Given the description of an element on the screen output the (x, y) to click on. 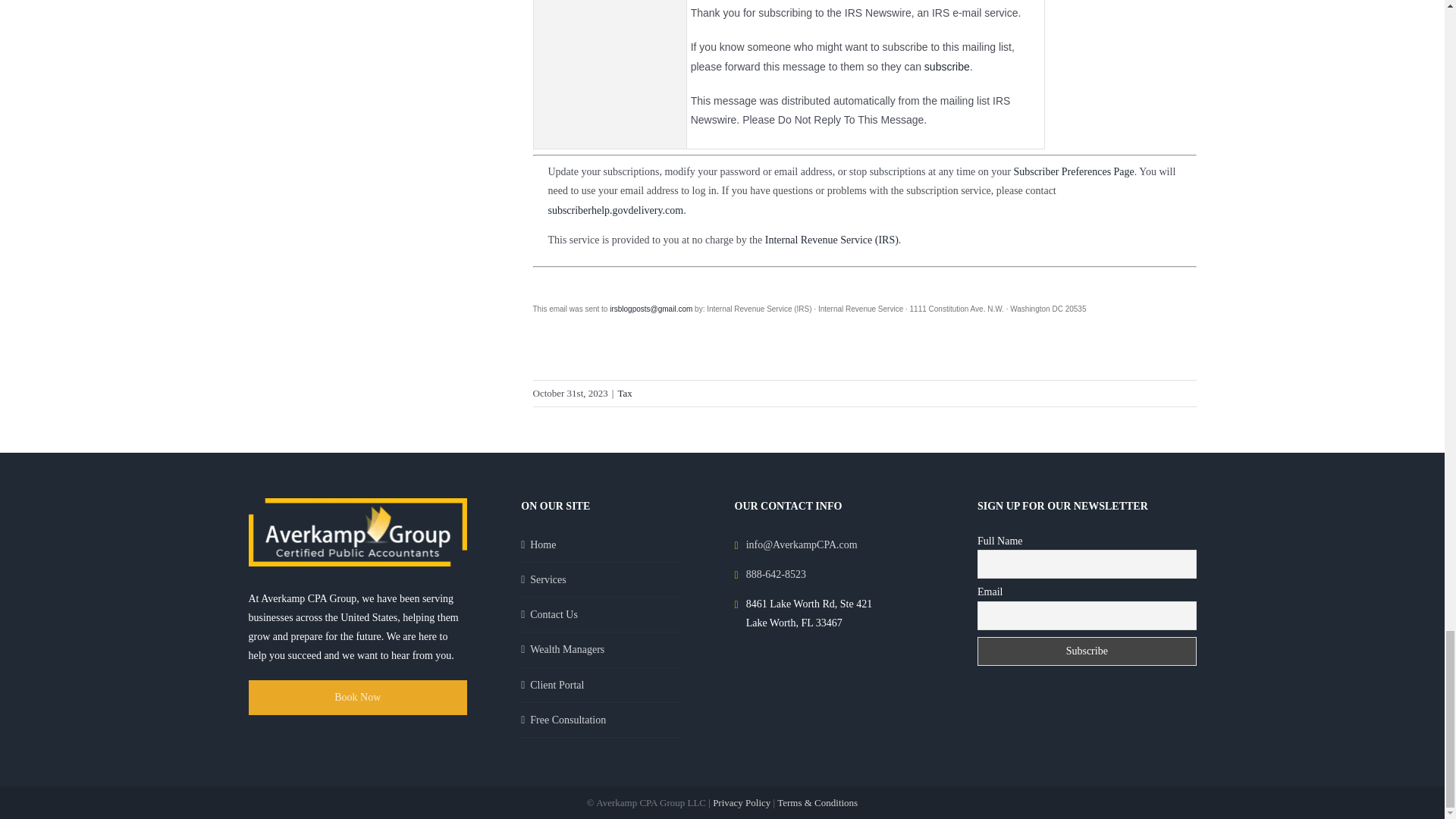
Subscribe (1086, 651)
